Given the description of an element on the screen output the (x, y) to click on. 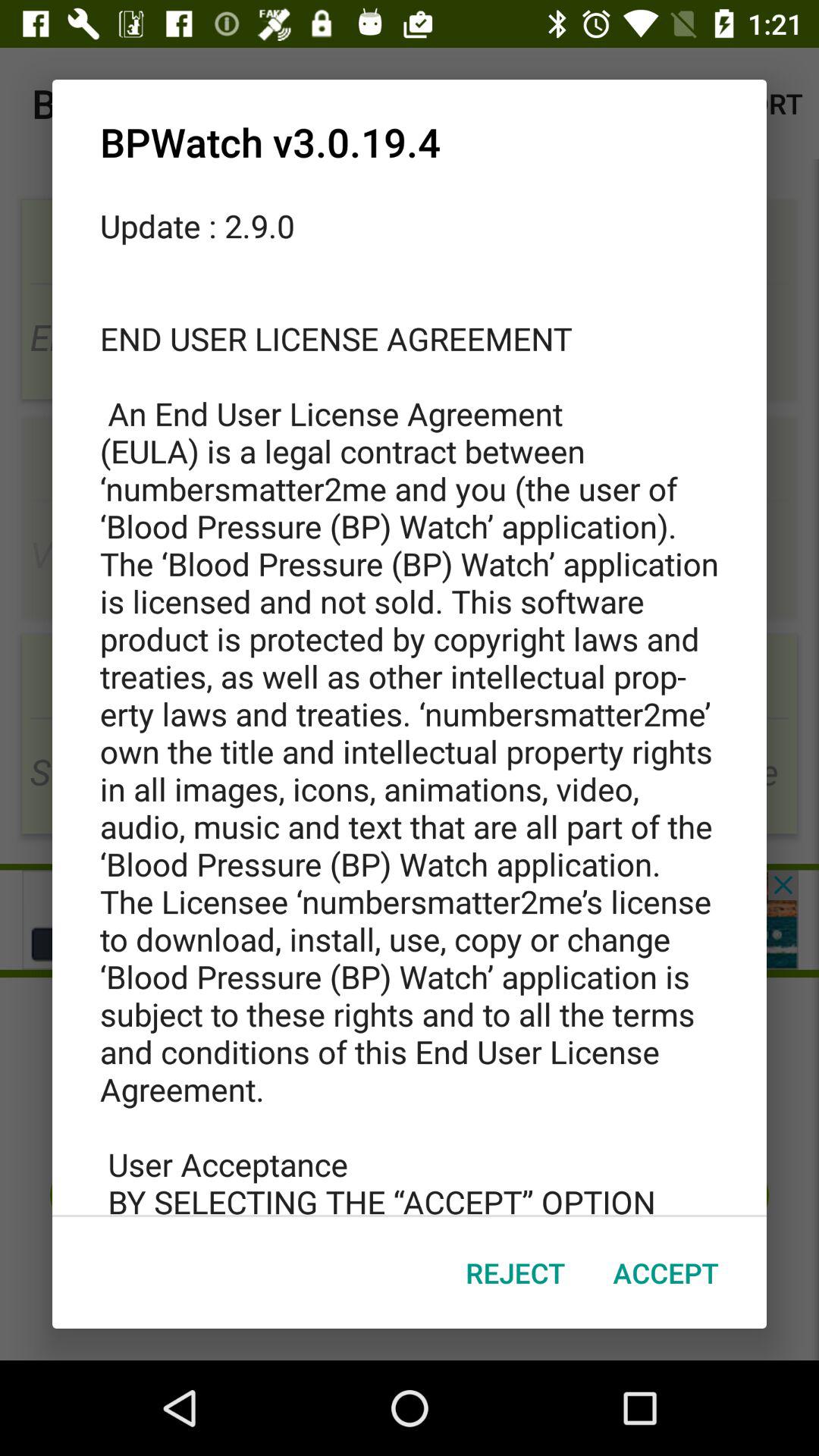
launch reject item (515, 1272)
